Given the description of an element on the screen output the (x, y) to click on. 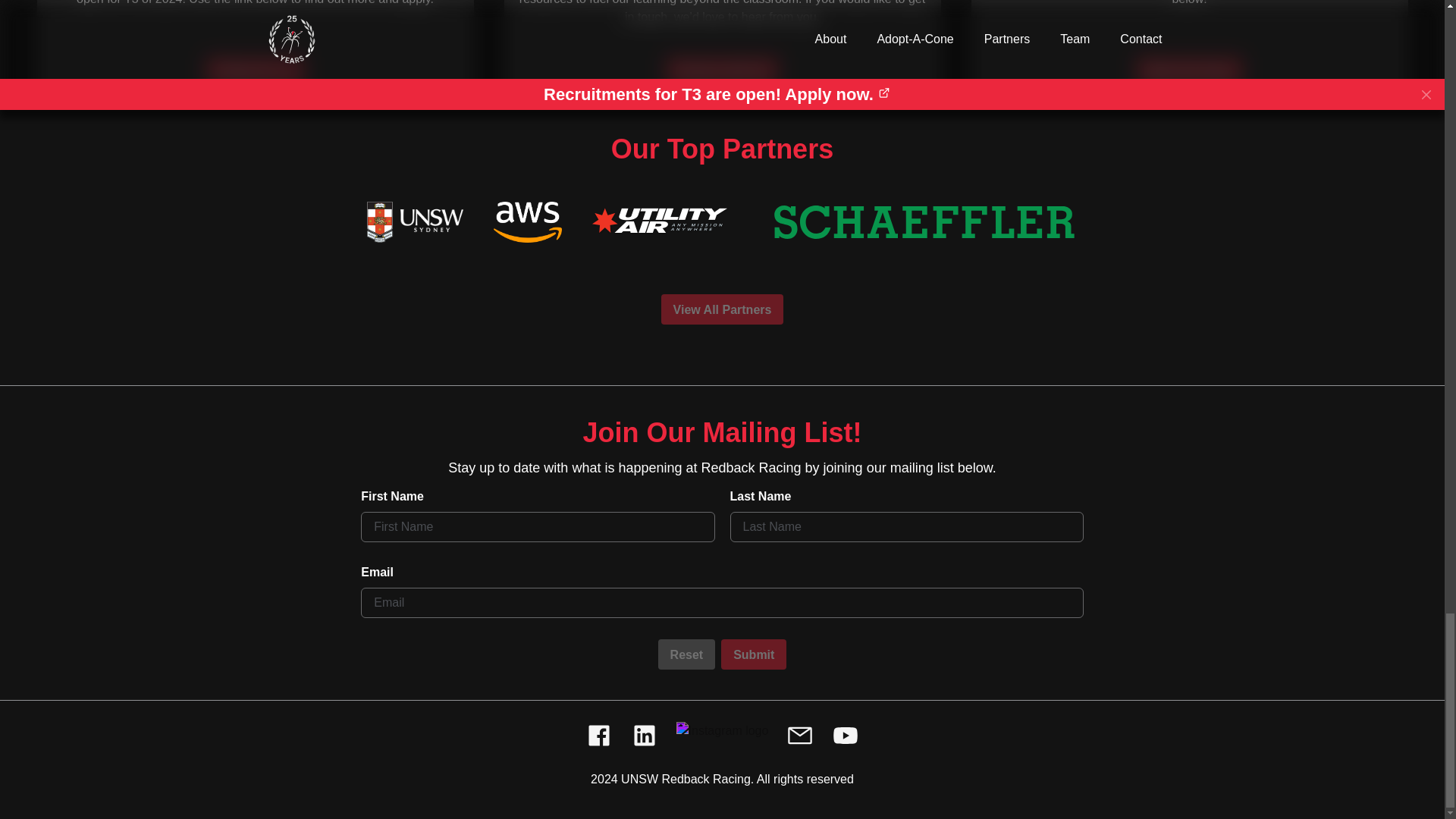
Partner with Us (721, 71)
Reset (687, 654)
Meet the Team (1189, 71)
Submit (753, 654)
View All Partners (722, 309)
Follow Us (255, 71)
